Given the description of an element on the screen output the (x, y) to click on. 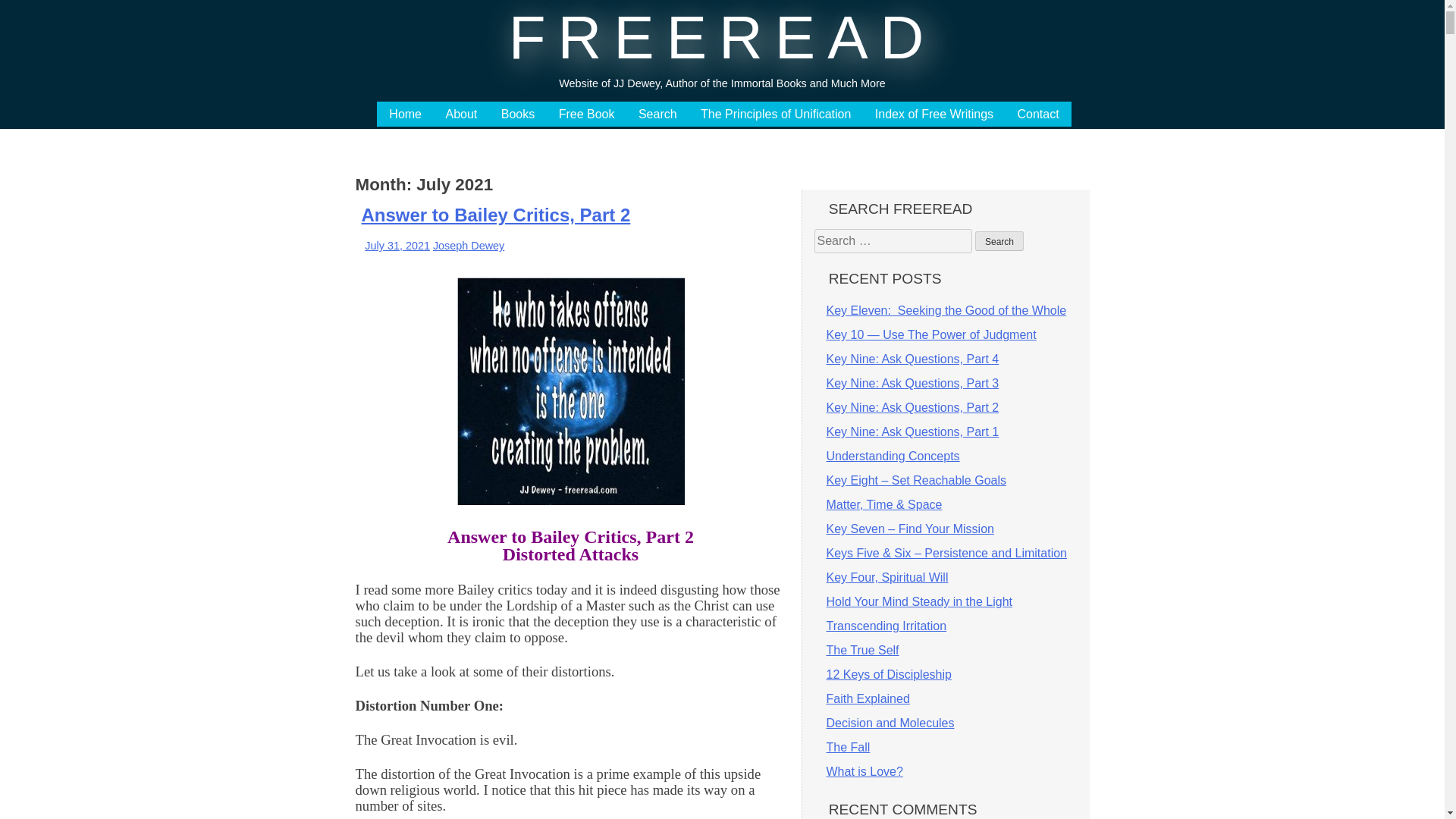
Search (999, 240)
Books (517, 114)
Answer to Bailey Critics, Part 2 (495, 214)
Free Book (586, 114)
Index of Free Writings (933, 114)
Search (658, 114)
FREEREAD (722, 37)
July 31, 2021 (397, 245)
Joseph Dewey (467, 245)
The Principles of Unification (775, 114)
